Given the description of an element on the screen output the (x, y) to click on. 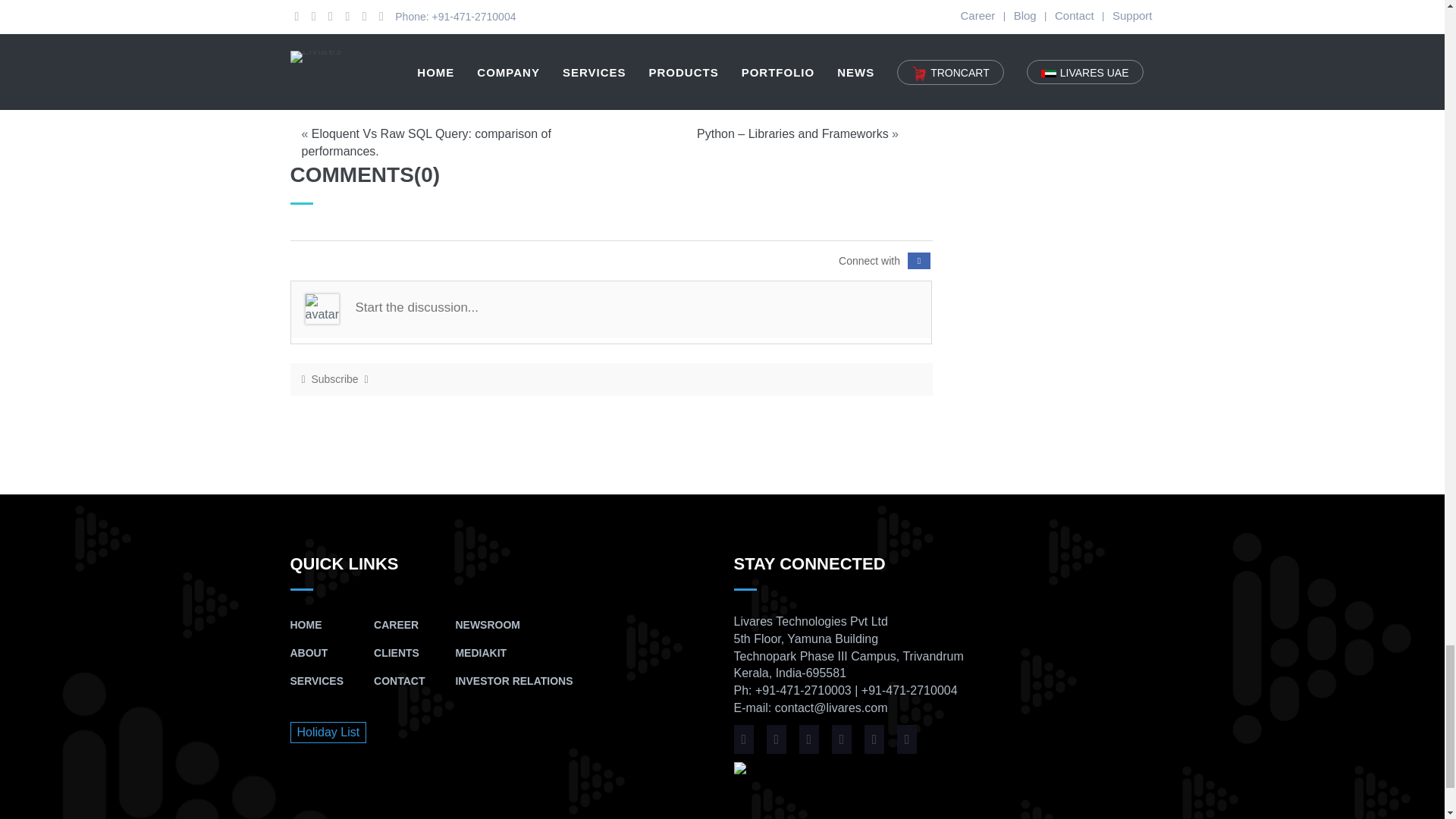
Eloquent Vs Raw SQL Query: comparison of performances. (426, 142)
LIVARES ADMIN (455, 49)
